Given the description of an element on the screen output the (x, y) to click on. 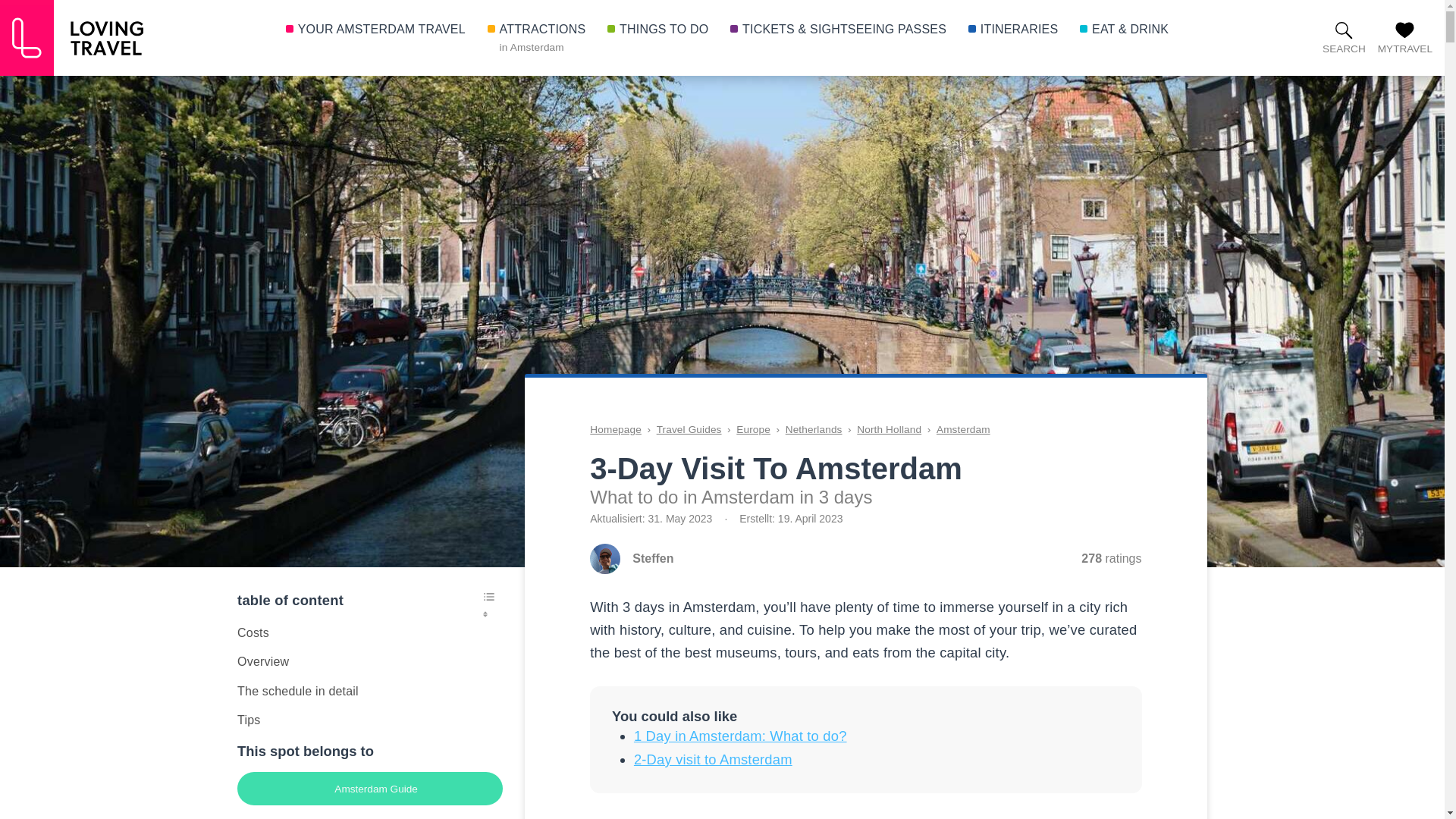
2 Days in Amsterdam (712, 759)
1 Day in Amsterdam (740, 735)
Profilbild von Steffen (604, 558)
